Given the description of an element on the screen output the (x, y) to click on. 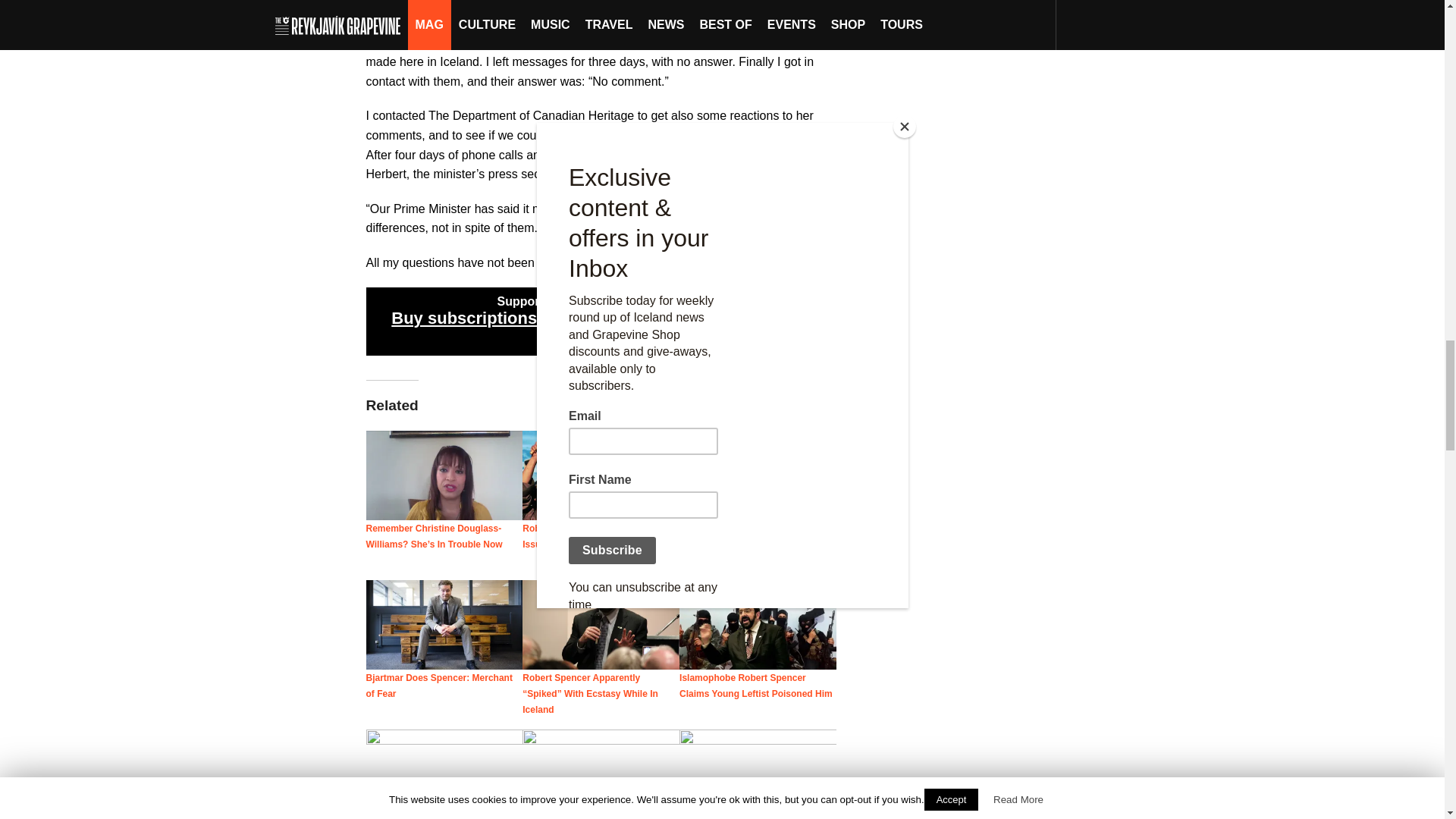
Bjartmar Does Spencer: Merchant of Fear (438, 685)
Bjartmar Does Spencer: Merchant of Fear (443, 624)
Islamophobe Robert Spencer Claims Young Leftist Poisoned Him (755, 685)
Bjartmar Does Spencer: Merchant of Fear (438, 685)
Islamophobe Robert Spencer Claims Young Leftist Poisoned Him (757, 624)
Islamophobe Robert Spencer Claims Young Leftist Poisoned Him (755, 685)
